Given the description of an element on the screen output the (x, y) to click on. 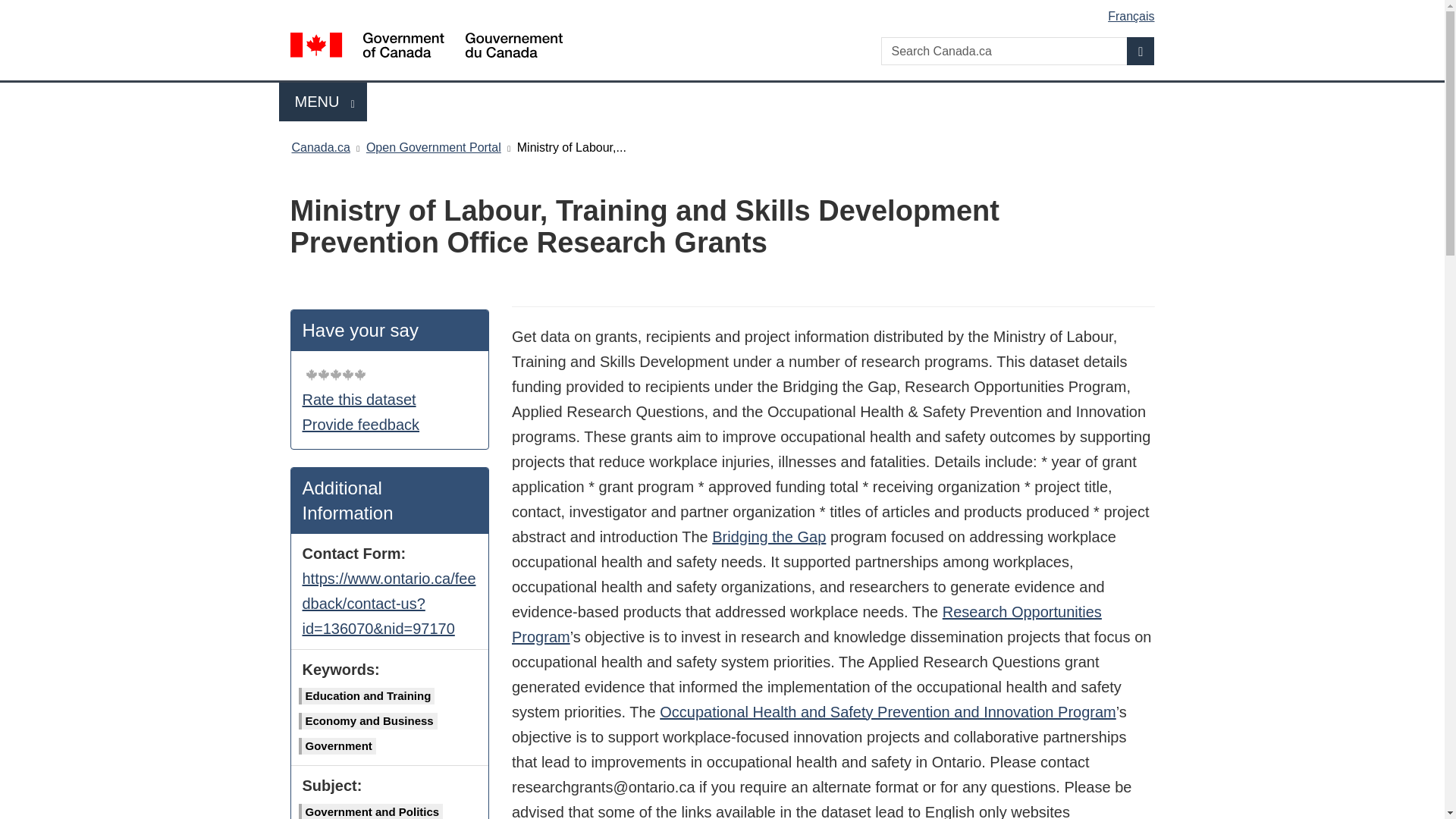
Research Opportunities Program (807, 624)
Skip to main content (725, 11)
Bridging the Gap (768, 536)
Search (1140, 50)
Ministry of Labour,... (571, 147)
Open Government Portal (433, 147)
Canada.ca (322, 101)
